Given the description of an element on the screen output the (x, y) to click on. 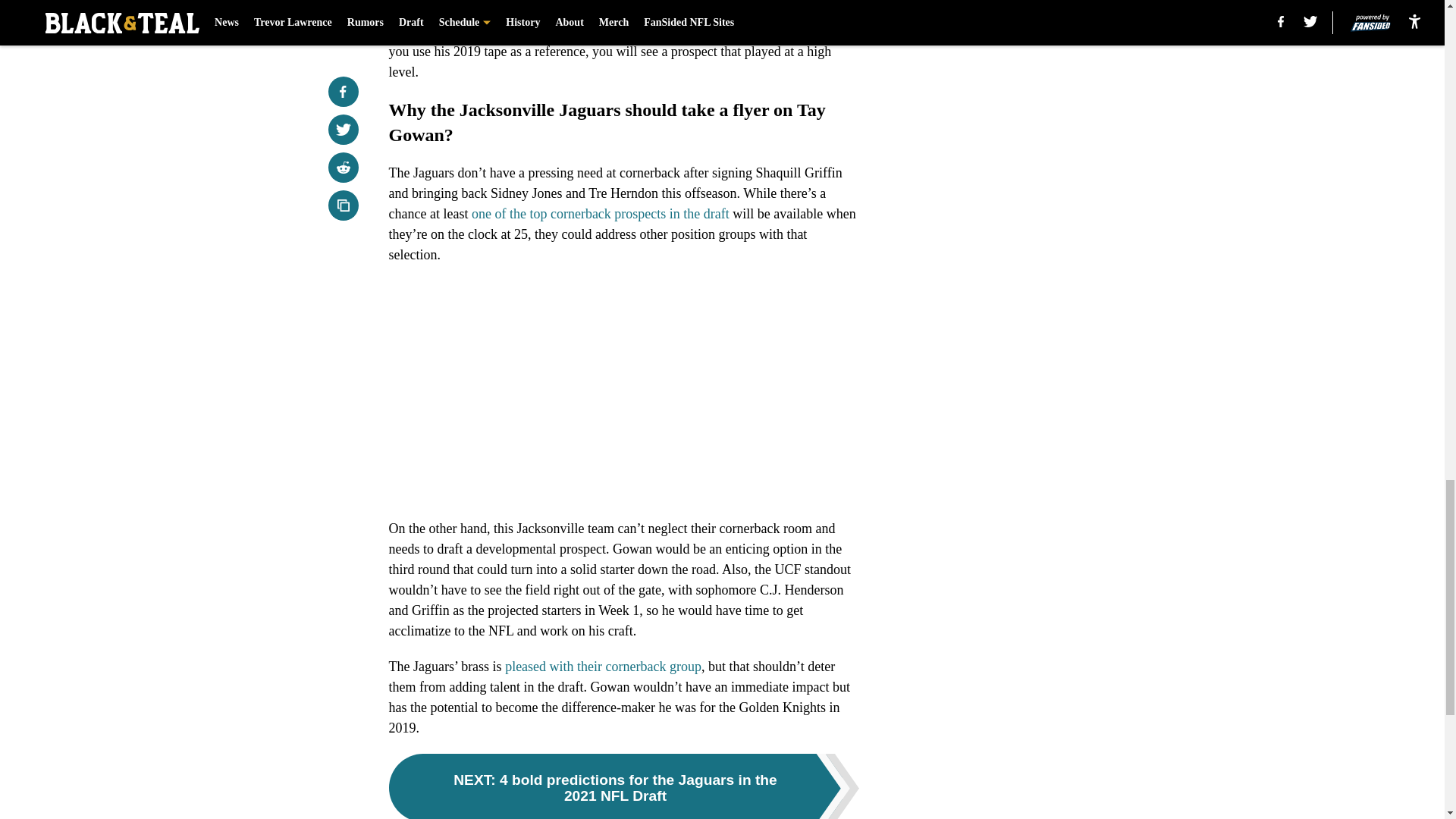
one of the top cornerback prospects in the draft (600, 213)
pleased with their cornerback group (603, 666)
